Given the description of an element on the screen output the (x, y) to click on. 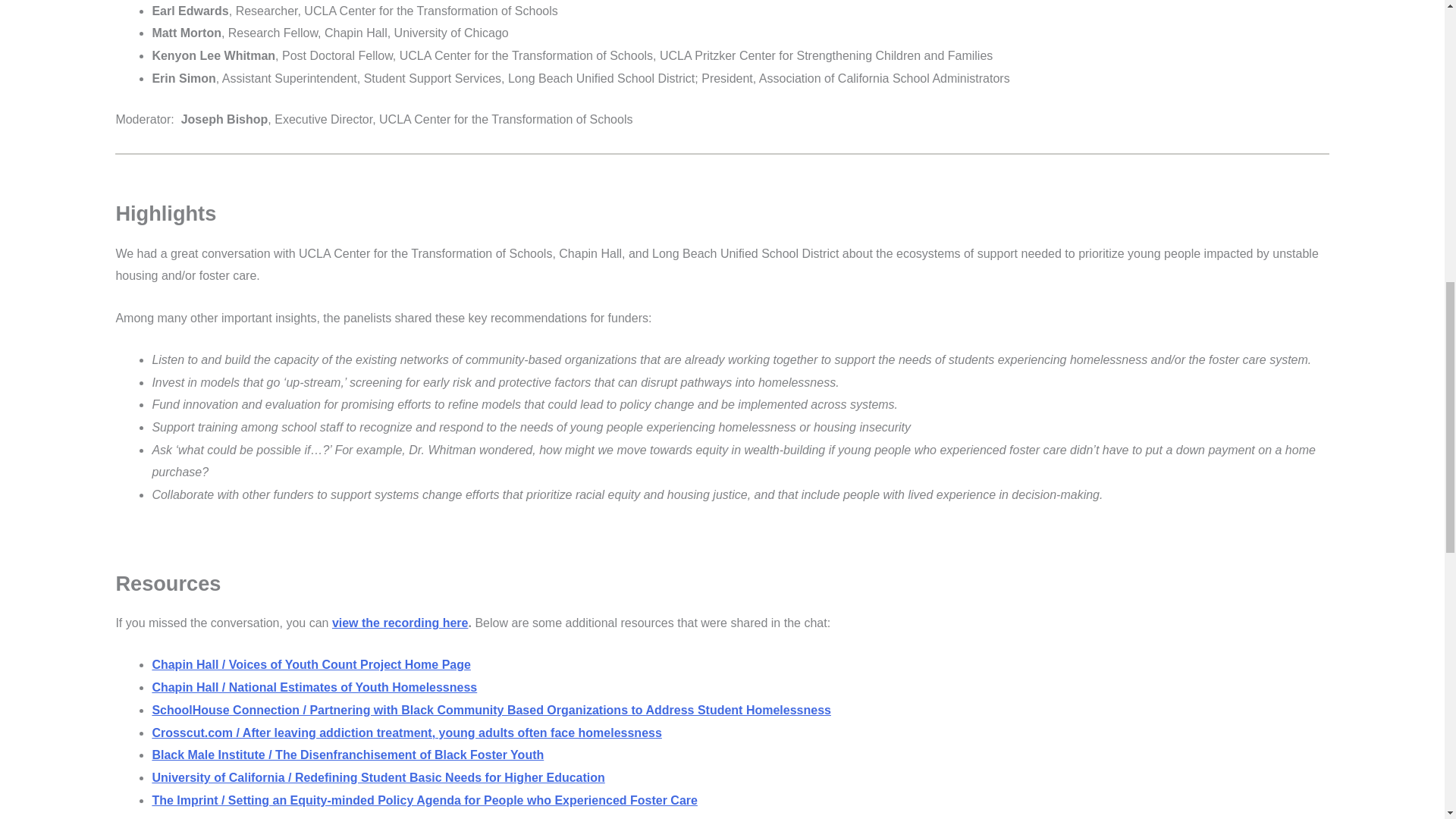
view the recording here (399, 622)
